Given the description of an element on the screen output the (x, y) to click on. 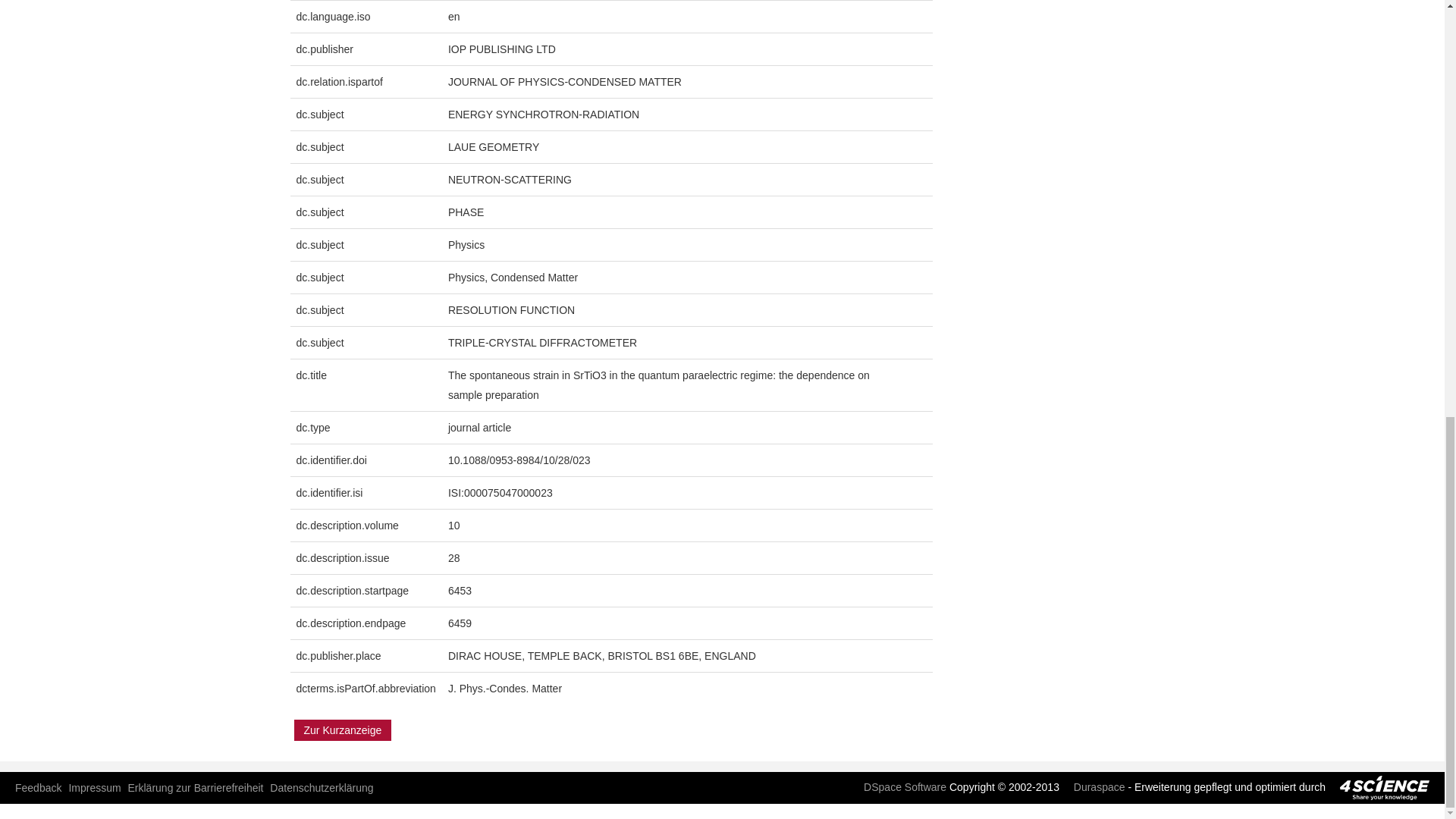
Zur Kurzanzeige (342, 730)
Duraspace (1093, 787)
Impressum (94, 787)
Feedback (37, 787)
DSpace Software (898, 787)
